Given the description of an element on the screen output the (x, y) to click on. 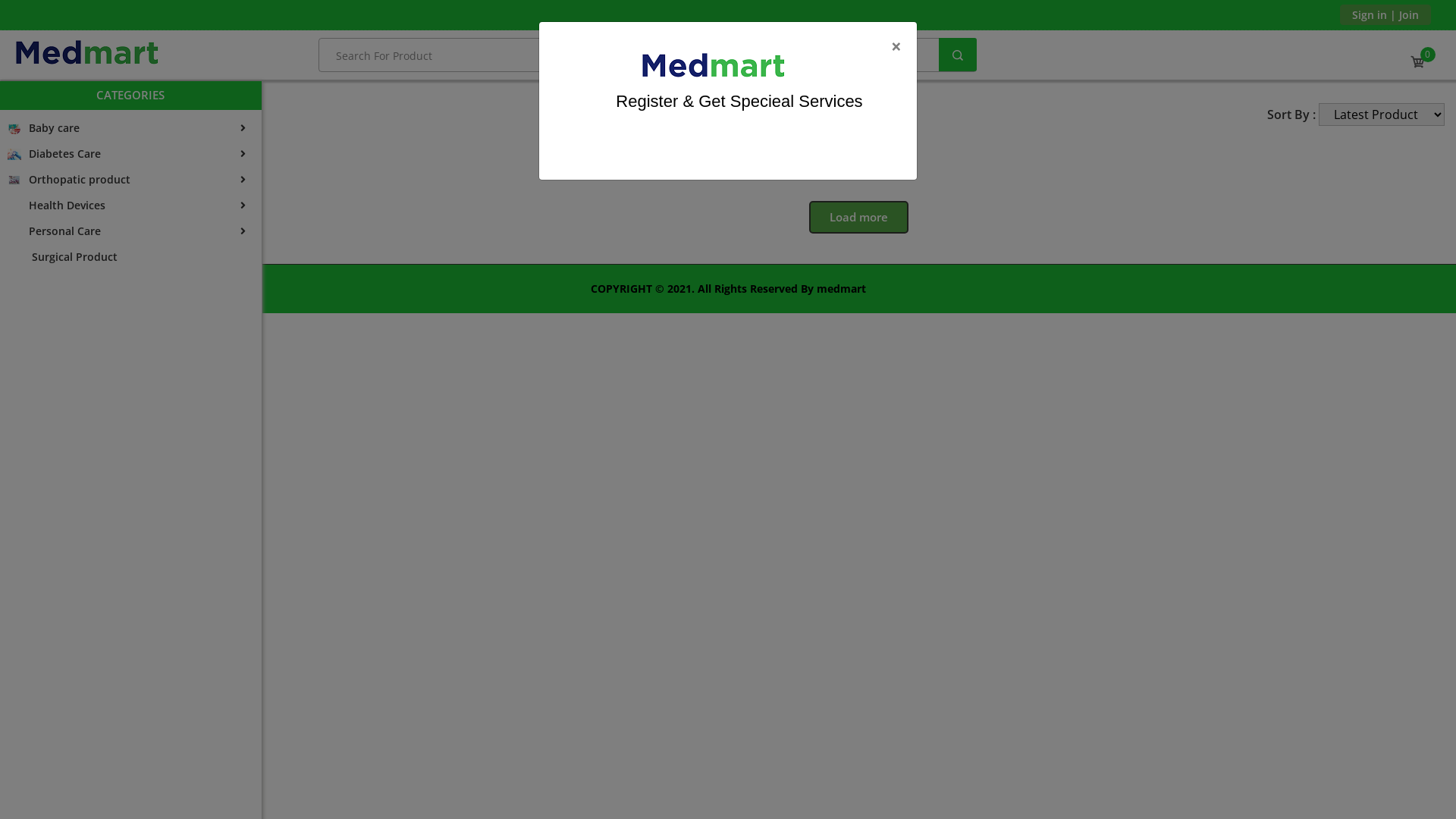
0 Element type: text (1417, 62)
Diabetes Care Element type: text (130, 153)
Surgical Product Element type: text (130, 256)
Personal Care Element type: text (130, 231)
Sign in | Join Element type: text (1385, 14)
Load more Element type: text (858, 216)
Orthopatic product Element type: text (130, 179)
Baby care Element type: text (130, 128)
Health Devices Element type: text (130, 205)
